Given the description of an element on the screen output the (x, y) to click on. 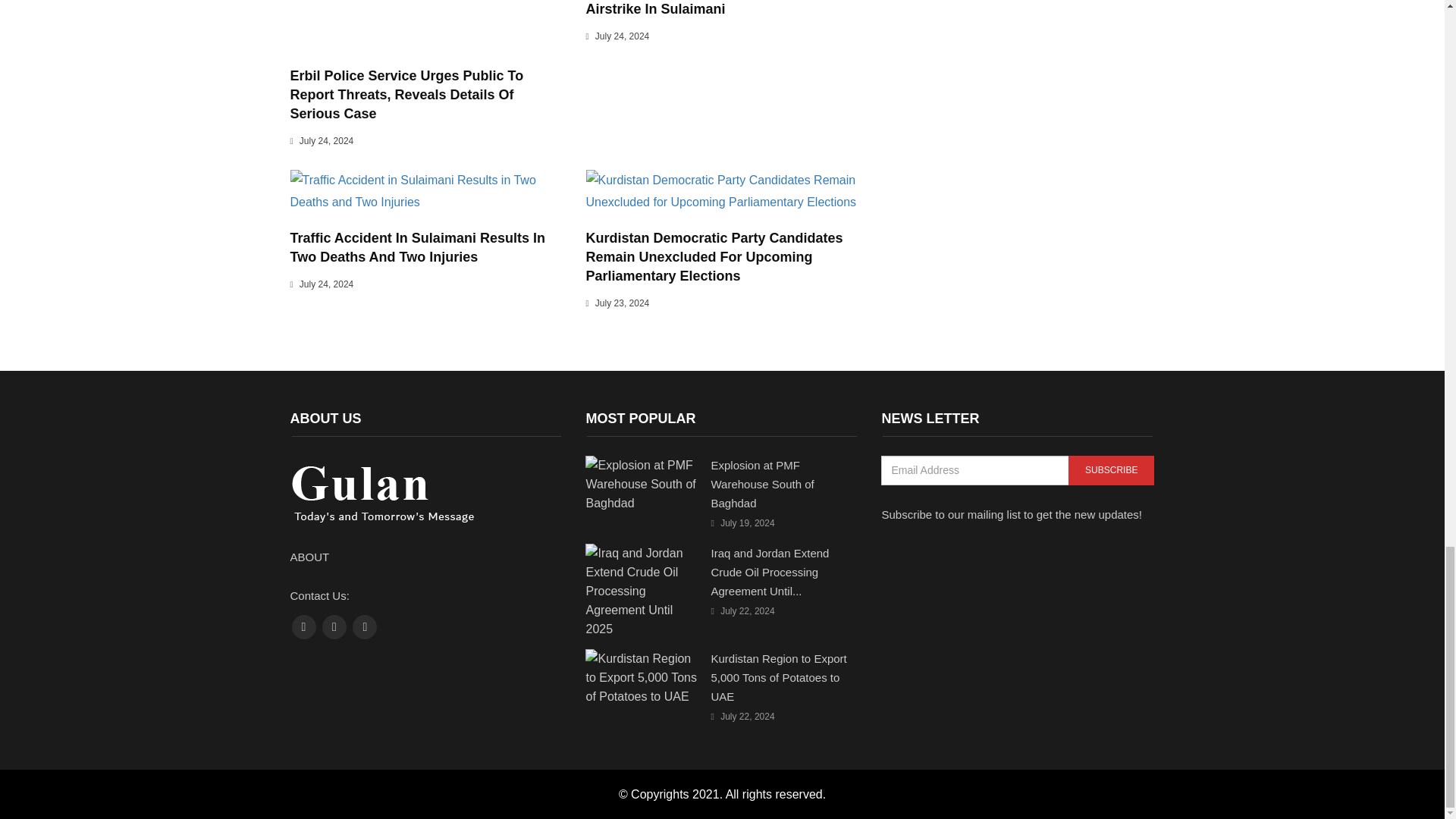
Senior KCK Official Killed In Turkish Airstrike In Sulaimani (703, 8)
